Given the description of an element on the screen output the (x, y) to click on. 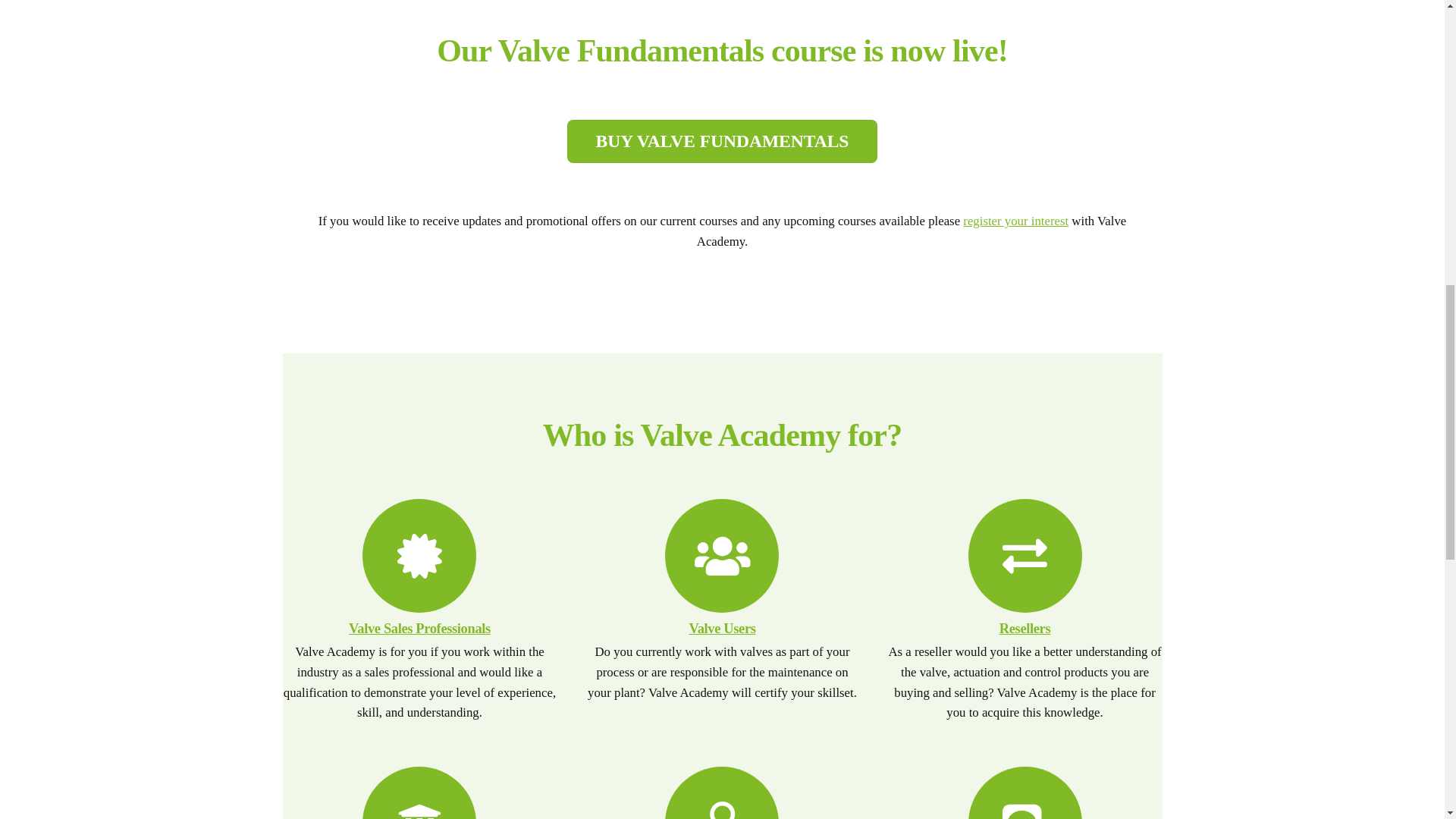
BUY VALVE FUNDAMENTALS (721, 140)
Valve Users (721, 628)
Valve Sales Professionals (419, 628)
Resellers (1023, 628)
register your interest (1015, 220)
